Given the description of an element on the screen output the (x, y) to click on. 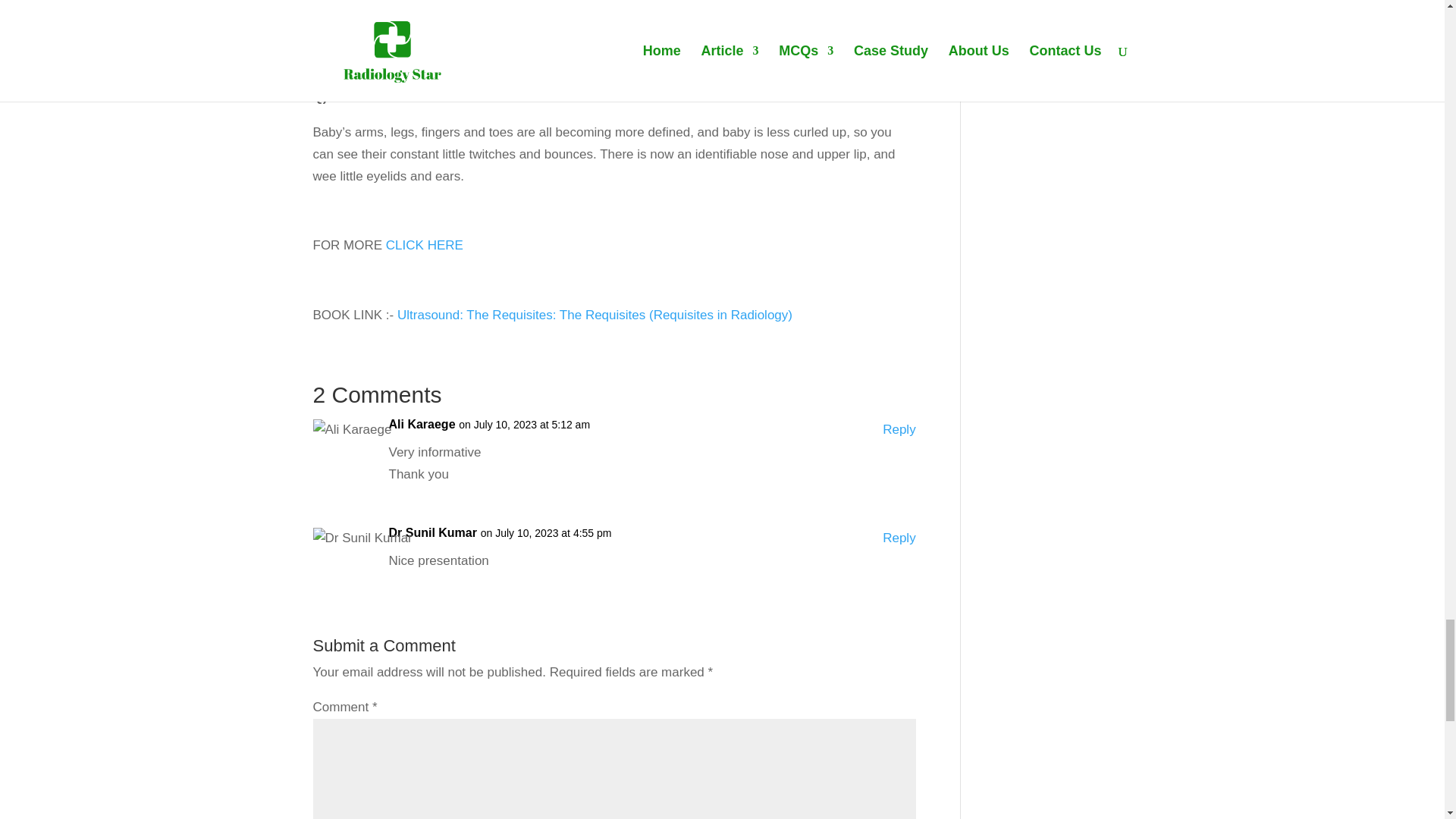
Reply (898, 538)
Reply (898, 430)
CLICK HERE (422, 245)
